Given the description of an element on the screen output the (x, y) to click on. 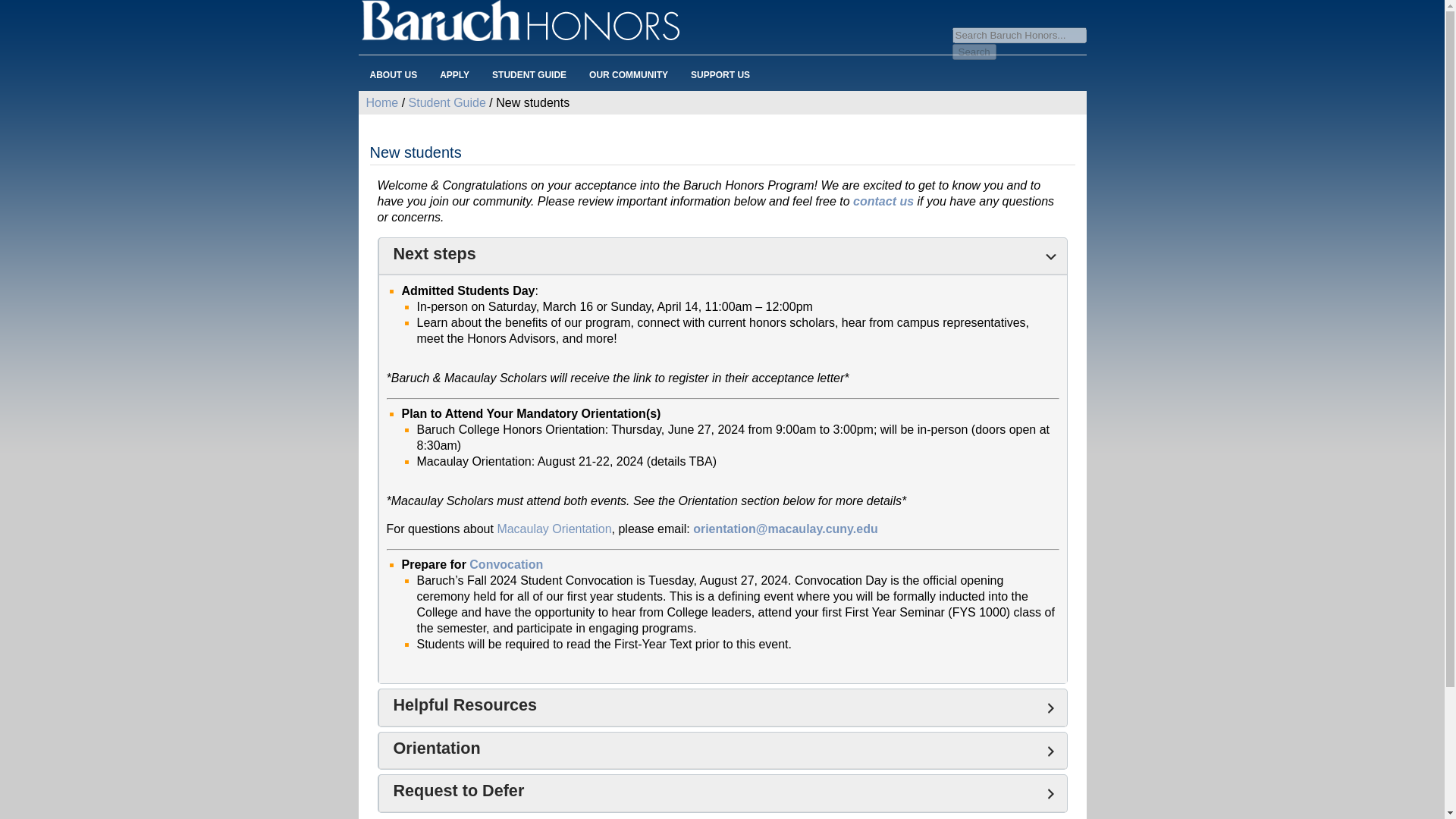
Search (973, 51)
OUR COMMUNITY (628, 74)
Baruch Honors (722, 23)
ABOUT US (393, 74)
Search (973, 51)
SUPPORT US (720, 74)
Search (973, 51)
STUDENT GUIDE (529, 74)
APPLY (454, 74)
